Given the description of an element on the screen output the (x, y) to click on. 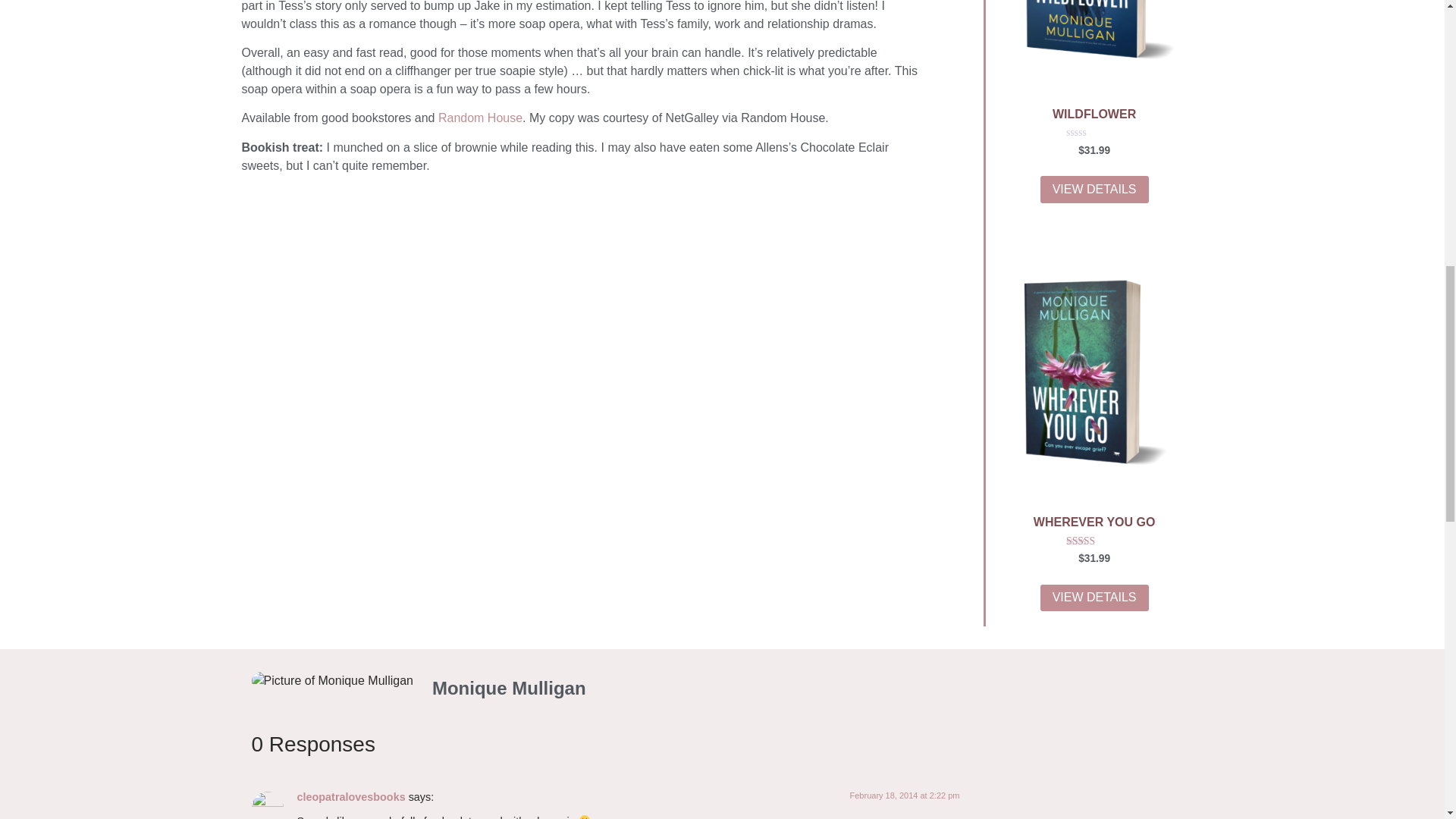
Random House (480, 117)
VIEW DETAILS (1094, 189)
